Given the description of an element on the screen output the (x, y) to click on. 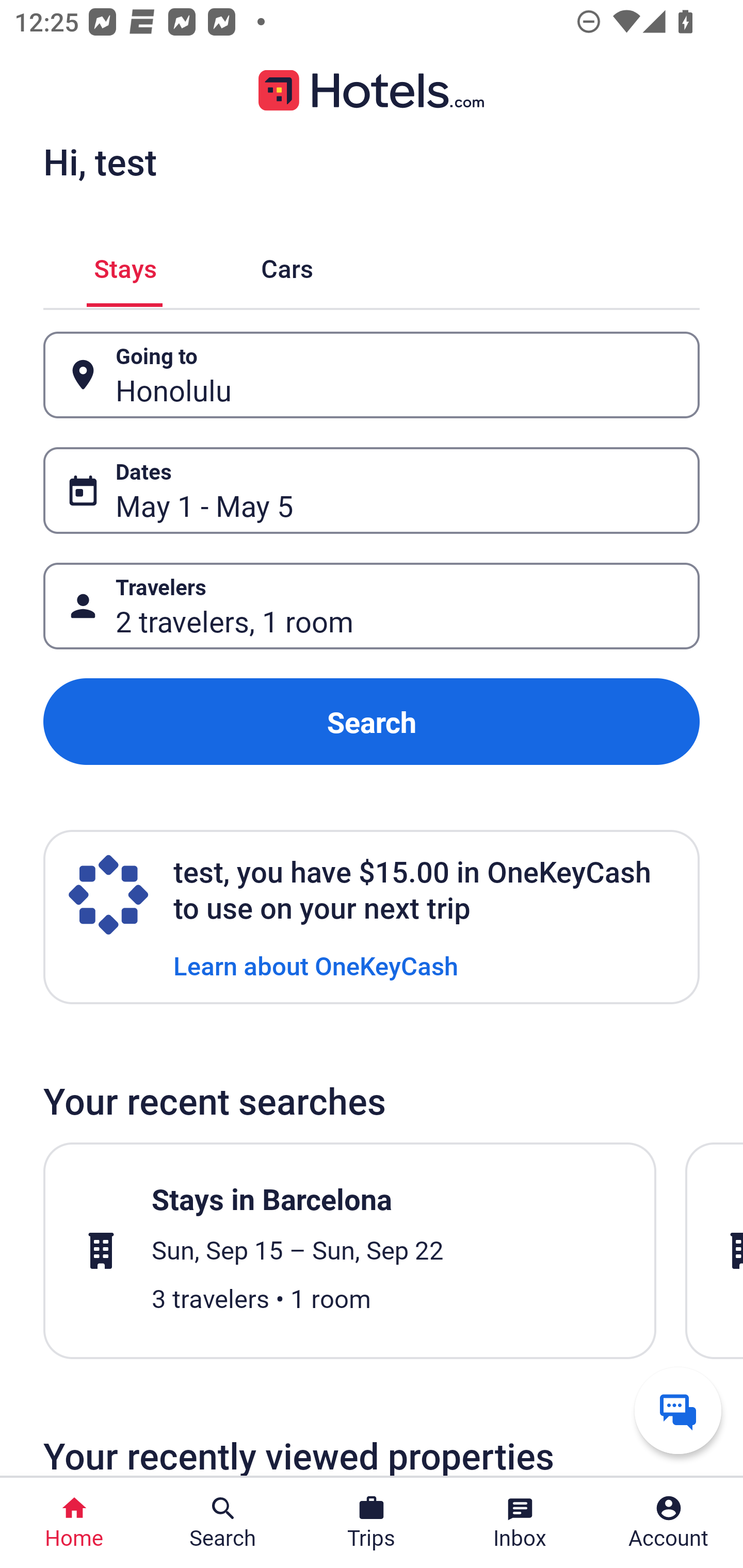
Hi, test (99, 161)
Cars (286, 265)
Going to Button Honolulu (371, 375)
Dates Button May 1 - May 5 (371, 489)
Travelers Button 2 travelers, 1 room (371, 605)
Search (371, 721)
Learn about OneKeyCash Learn about OneKeyCash Link (315, 964)
Get help from a virtual agent (677, 1410)
Search Search Button (222, 1522)
Trips Trips Button (371, 1522)
Inbox Inbox Button (519, 1522)
Account Profile. Button (668, 1522)
